Given the description of an element on the screen output the (x, y) to click on. 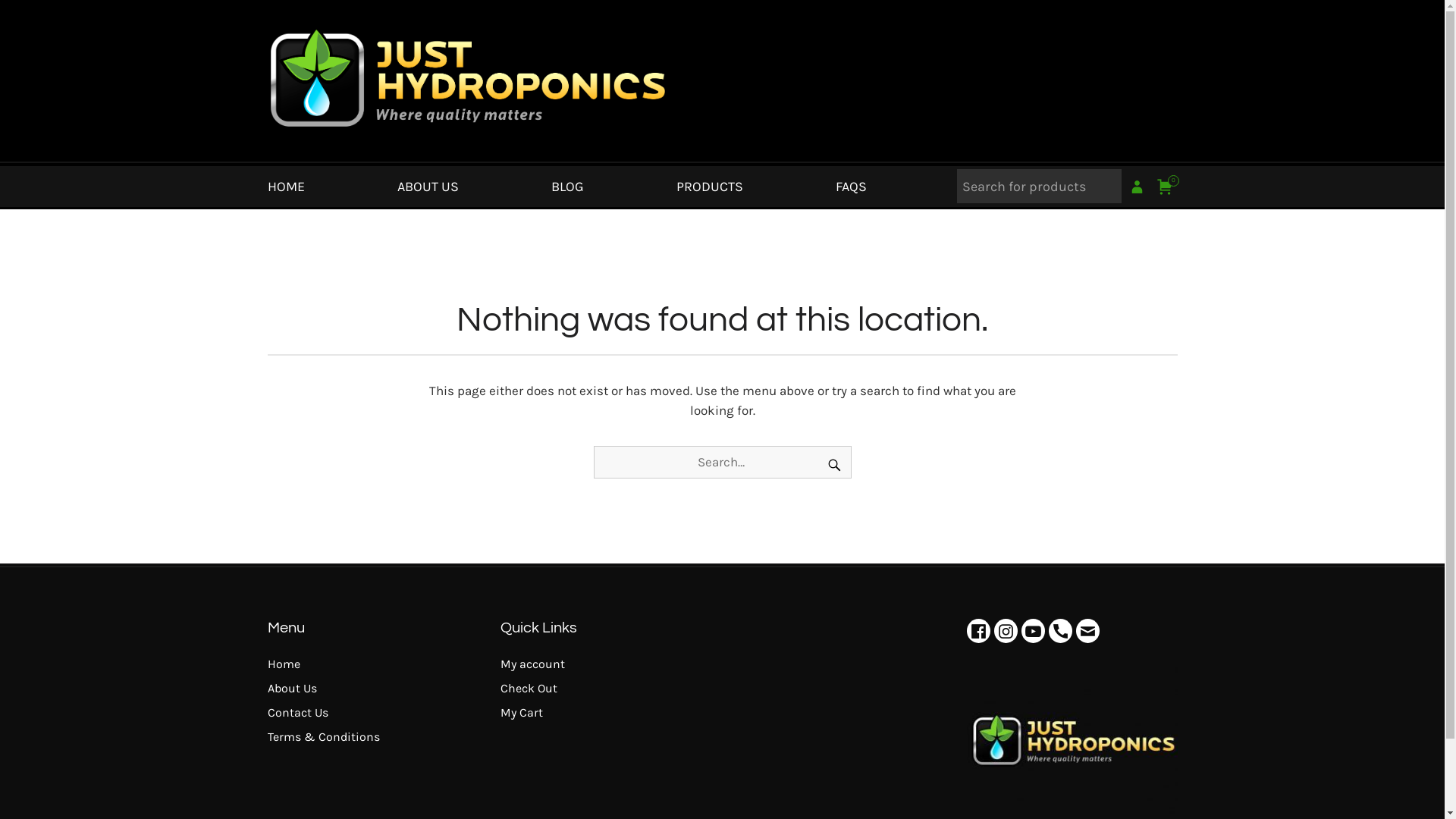
PRODUCTS Element type: text (709, 186)
Search Element type: text (35, 17)
About Us Element type: text (291, 687)
My account Element type: text (532, 663)
Search Element type: hover (833, 465)
BLOG Element type: text (566, 186)
Check Out Element type: text (528, 687)
0 Element type: text (1164, 186)
Terms & Conditions Element type: text (322, 736)
Home Element type: text (282, 663)
Return to homepage Element type: hover (465, 150)
Contact Us Element type: text (296, 712)
FAQS Element type: text (850, 186)
My Cart Element type: text (521, 712)
ABOUT US Element type: text (427, 186)
HOME Element type: text (285, 186)
